Given the description of an element on the screen output the (x, y) to click on. 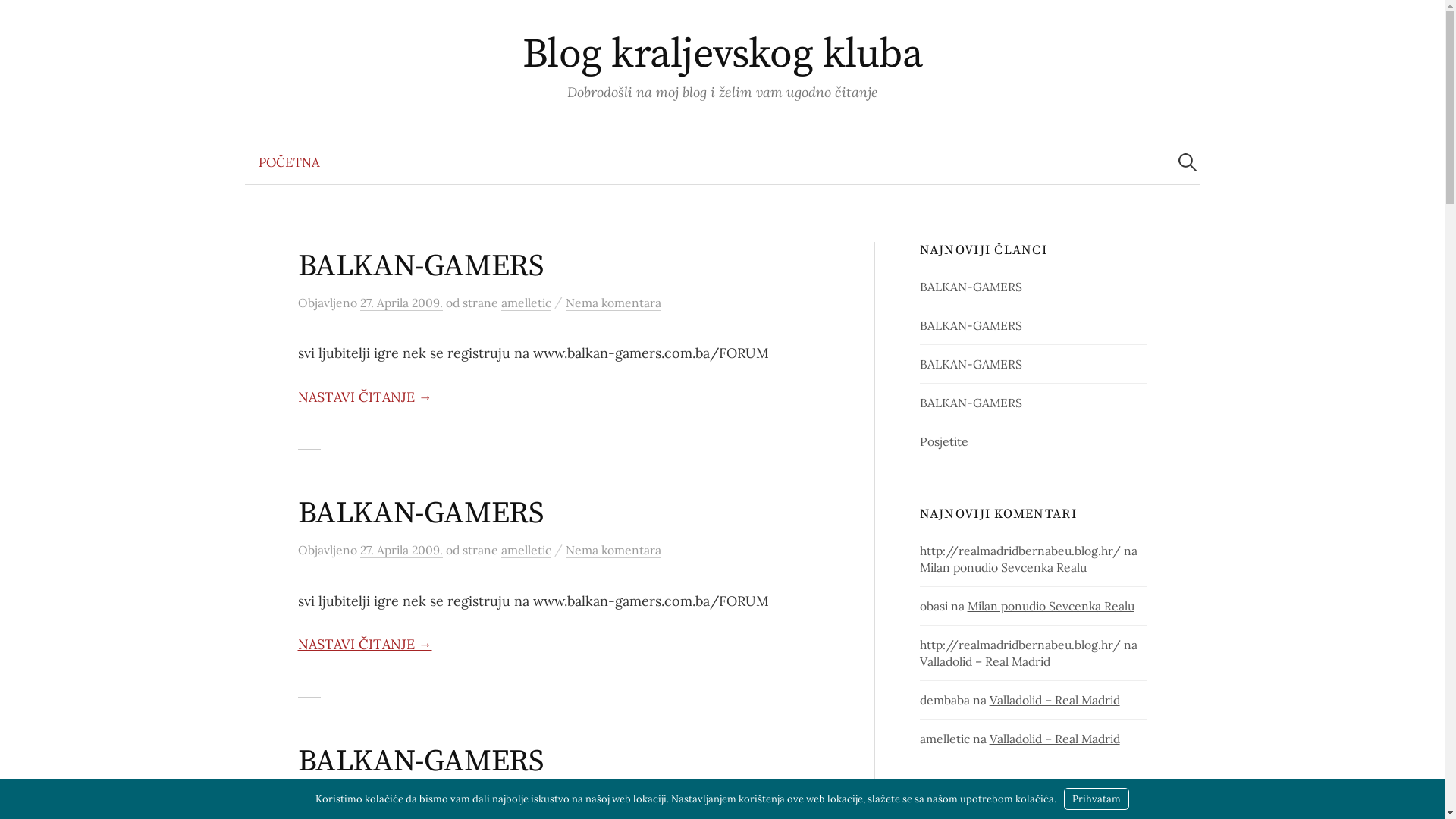
Blog kraljevskog kluba Element type: text (722, 54)
27. Aprila 2009. Element type: text (400, 798)
Prihvatam Element type: text (1096, 798)
27. Aprila 2009. Element type: text (400, 302)
amelletic Element type: text (525, 550)
amelletic Element type: text (525, 798)
BALKAN-GAMERS Element type: text (970, 286)
Nema komentara
na BALKAN-GAMERS Element type: text (613, 798)
BALKAN-GAMERS Element type: text (419, 761)
BALKAN-GAMERS Element type: text (419, 513)
Posjetite Element type: text (943, 440)
amelletic Element type: text (525, 302)
BALKAN-GAMERS Element type: text (970, 402)
Pretraga Element type: text (18, 18)
Milan ponudio Sevcenka Realu Element type: text (1050, 605)
Milan ponudio Sevcenka Realu Element type: text (1002, 566)
BALKAN-GAMERS Element type: text (970, 363)
Nema komentara
na BALKAN-GAMERS Element type: text (613, 550)
27. Aprila 2009. Element type: text (400, 550)
BALKAN-GAMERS Element type: text (970, 324)
BALKAN-GAMERS Element type: text (419, 266)
Nema komentara
na BALKAN-GAMERS Element type: text (613, 302)
